Given the description of an element on the screen output the (x, y) to click on. 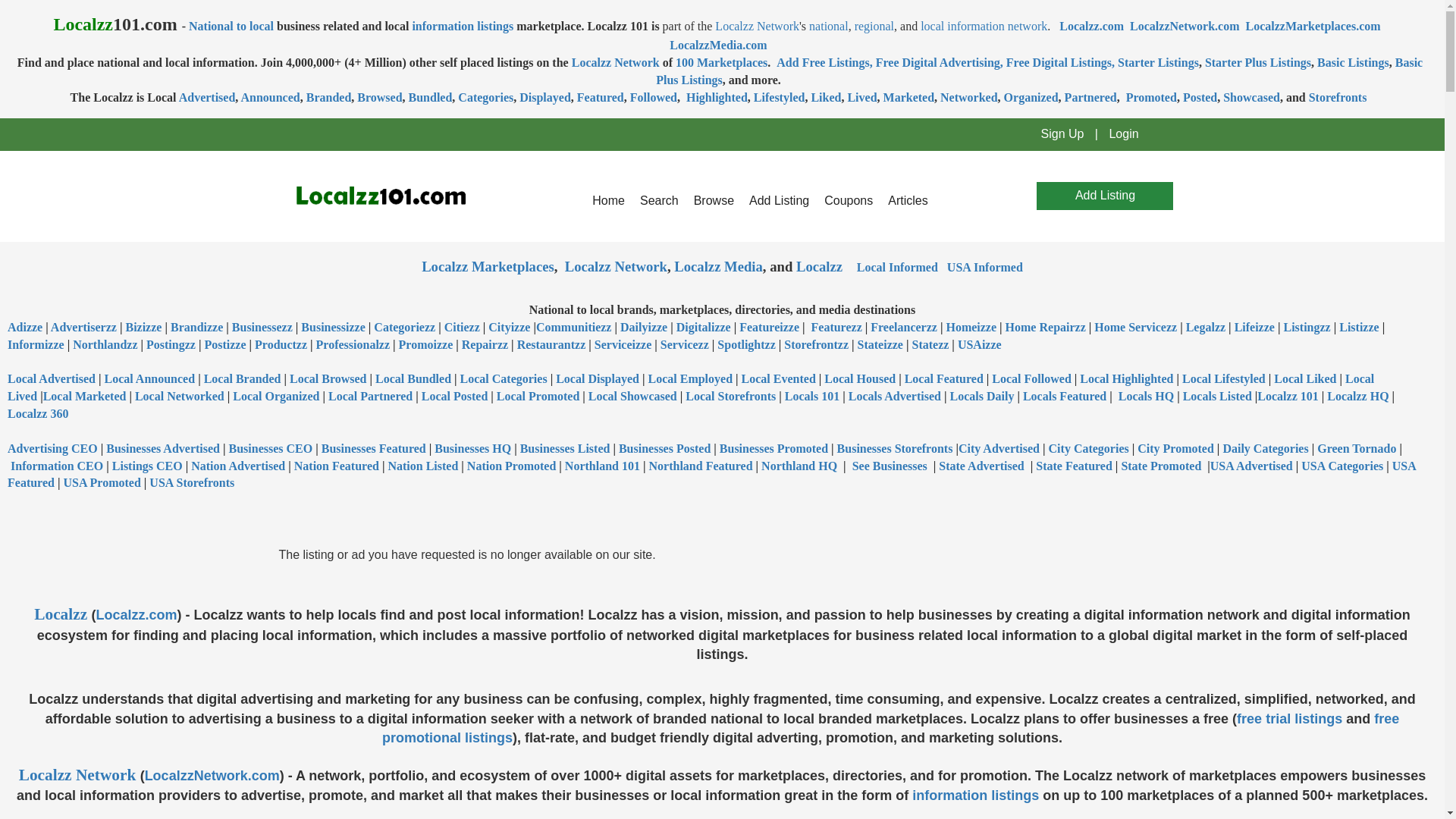
Localzz101.com - Local Business information and listings. (381, 195)
Lived (861, 97)
Promoted (1150, 97)
local information network (983, 25)
Starter Listings (1158, 62)
Advertised (207, 97)
Posted (1199, 97)
Showcased (1251, 97)
Featured (600, 97)
Categories (485, 97)
Networked (968, 97)
Localzz.com (1091, 25)
 Highlighted (715, 97)
National to local (231, 25)
information listings (462, 25)
